Given the description of an element on the screen output the (x, y) to click on. 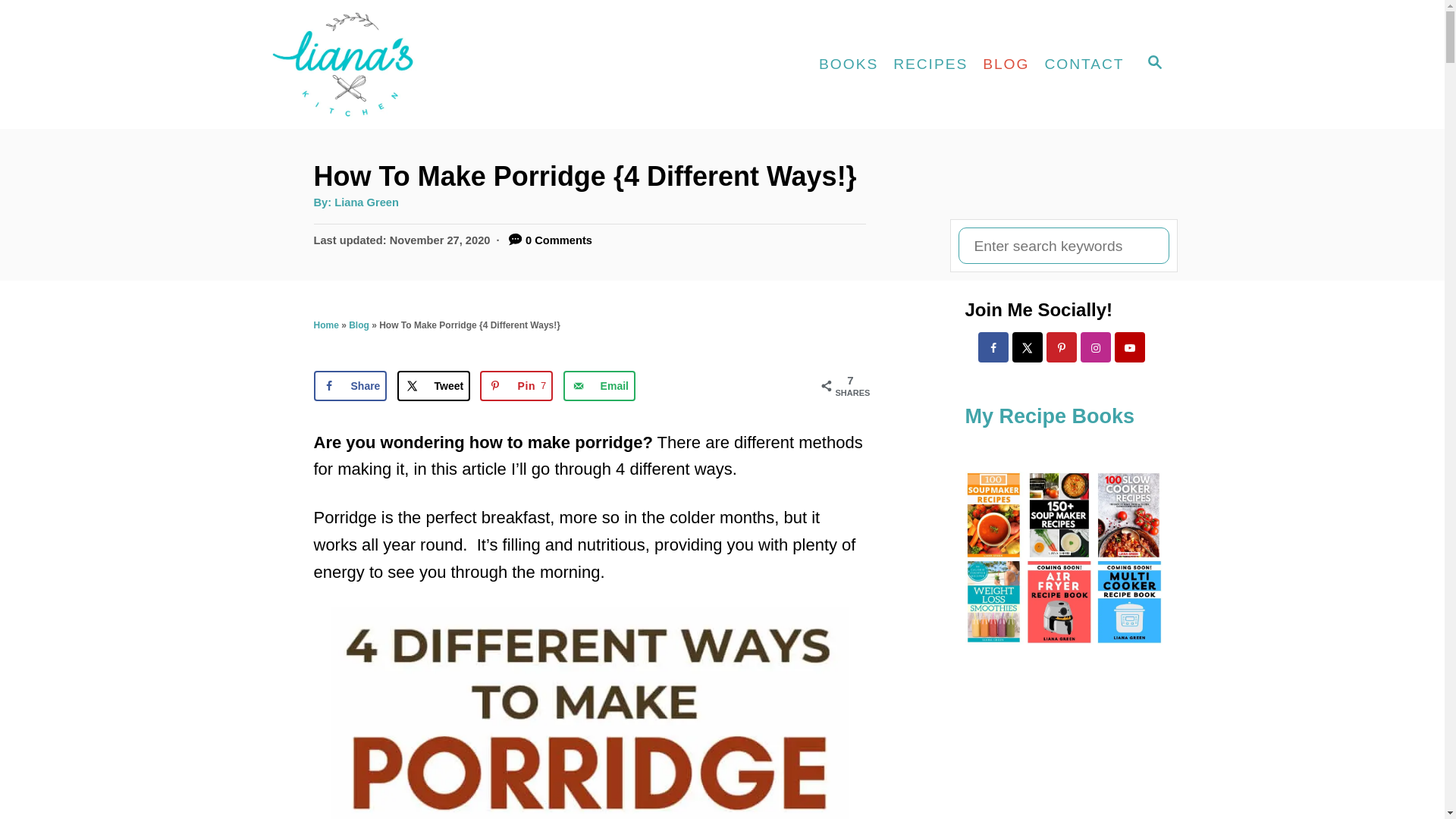
Liana's Kitchen (403, 64)
CONTACT (516, 386)
Share on X (1083, 64)
Liana Green (433, 386)
RECIPES (366, 202)
Send over email (930, 64)
Share (598, 386)
BOOKS (350, 386)
SEARCH (847, 64)
Tweet (1153, 64)
Blog (433, 386)
Share on Facebook (359, 325)
BLOG (350, 386)
Home (1005, 64)
